Given the description of an element on the screen output the (x, y) to click on. 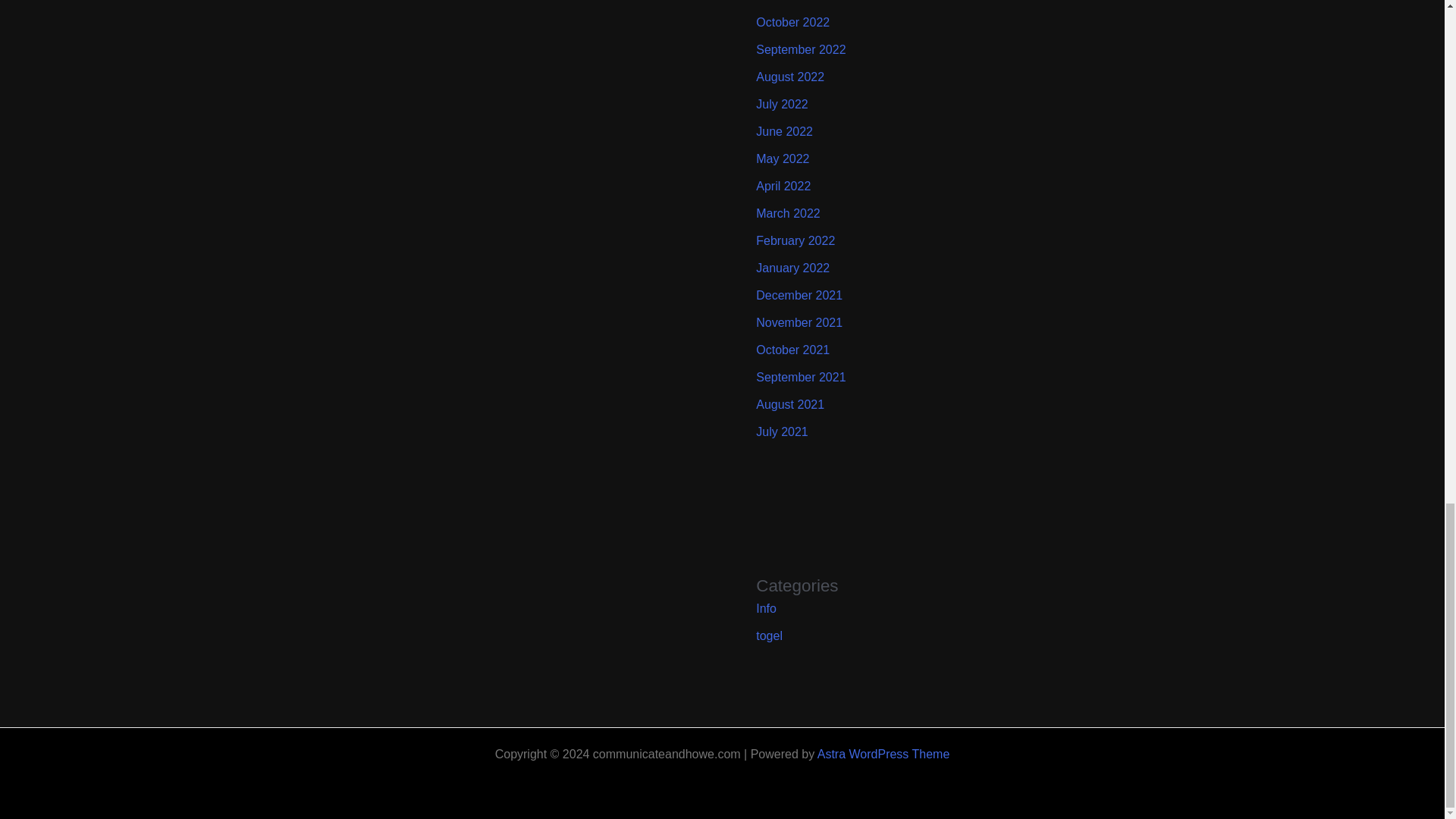
October 2022 (792, 21)
November 2022 (799, 0)
September 2022 (800, 49)
